Given the description of an element on the screen output the (x, y) to click on. 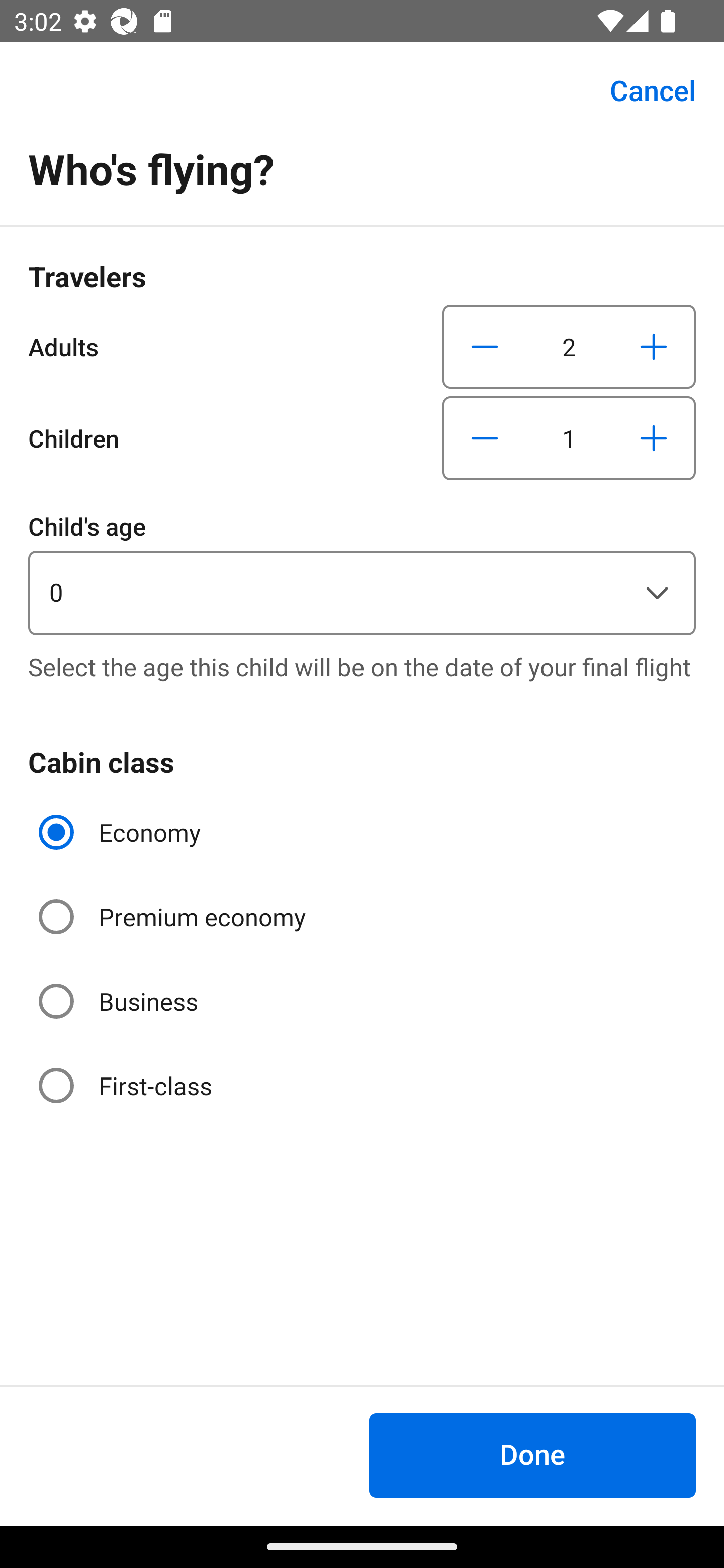
Cancel (641, 90)
Decrease (484, 346)
Increase (653, 346)
Decrease (484, 437)
Increase (653, 437)
Child's age
 Child's age 0 (361, 571)
Economy (121, 832)
Premium economy (174, 916)
Business (120, 1000)
First-class (126, 1084)
Done (532, 1454)
